Given the description of an element on the screen output the (x, y) to click on. 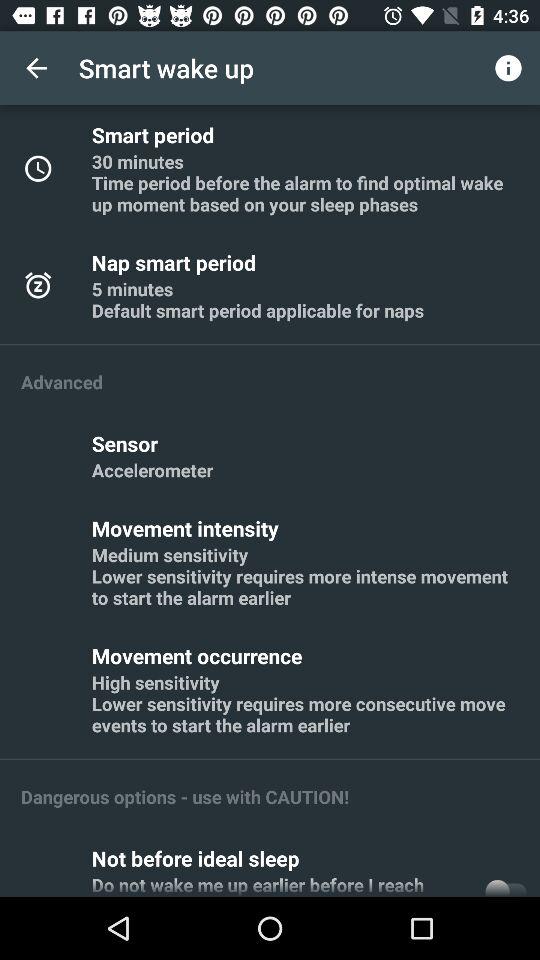
tap icon below advanced icon (127, 443)
